Given the description of an element on the screen output the (x, y) to click on. 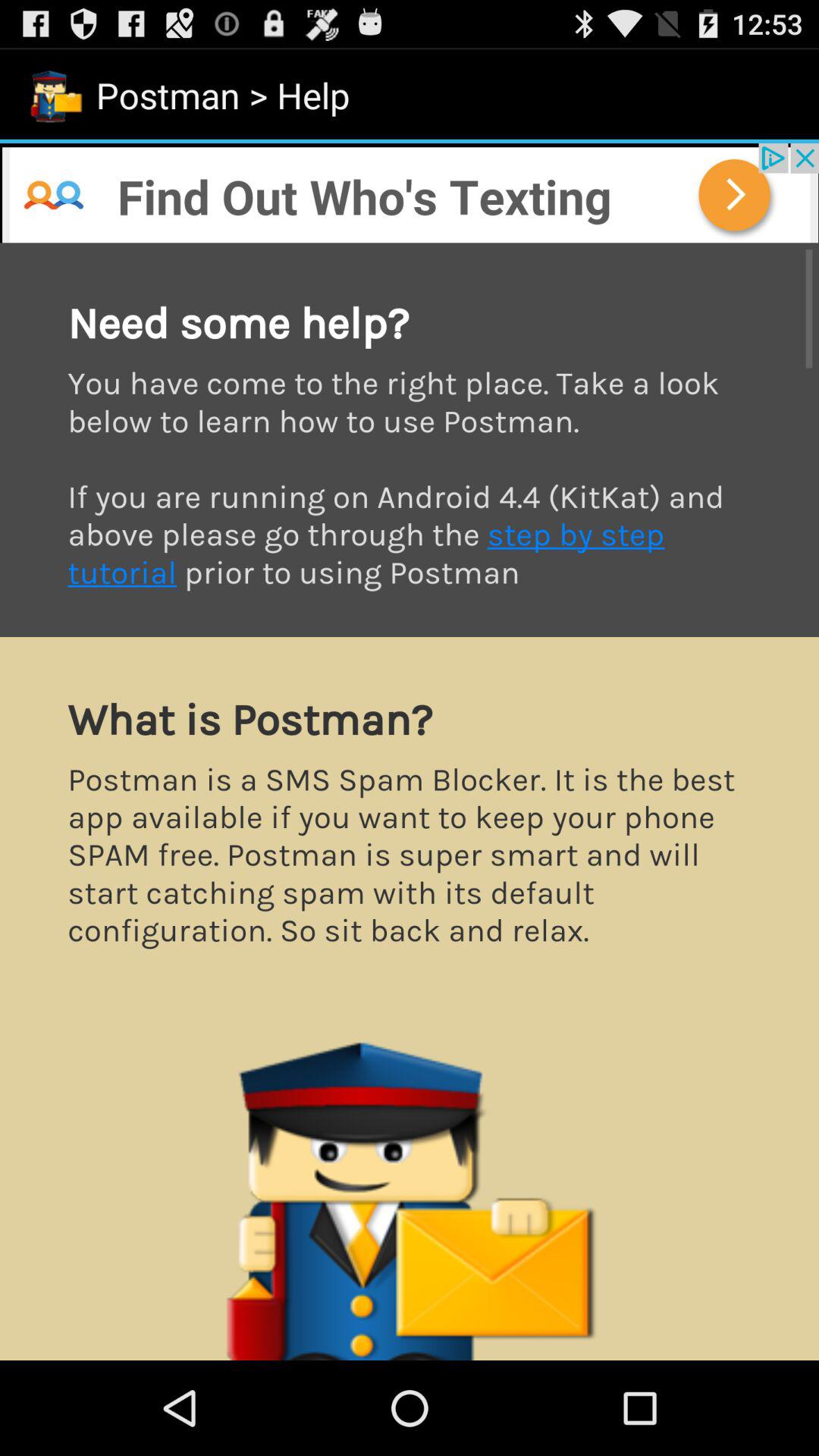
file (409, 801)
